Given the description of an element on the screen output the (x, y) to click on. 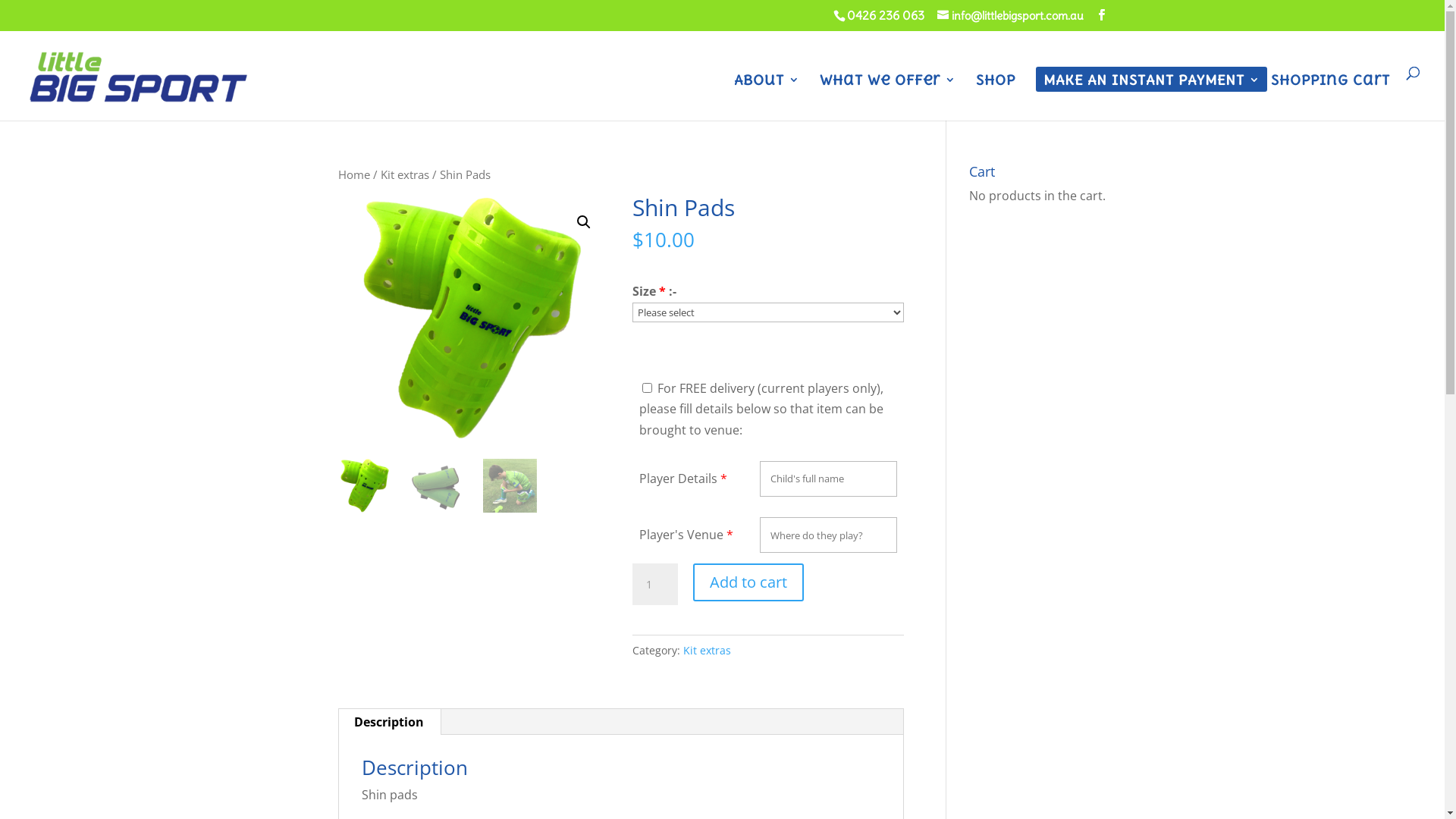
MAKE AN INSTANT PAYMENT Element type: text (1151, 97)
Shin Pads Element type: hover (745, 377)
Kit extras Element type: text (404, 174)
Shop Element type: text (995, 97)
Home Element type: text (354, 174)
Fmeaddons Element type: text (457, 293)
Description Element type: text (387, 721)
Kit extras Element type: text (707, 650)
Add to cart Element type: text (748, 582)
Shopping Cart Element type: text (1330, 97)
SP new Element type: hover (473, 318)
What We Offer Element type: text (887, 97)
info@littlebigsport.com.au Element type: text (1010, 15)
About Element type: text (766, 97)
